Given the description of an element on the screen output the (x, y) to click on. 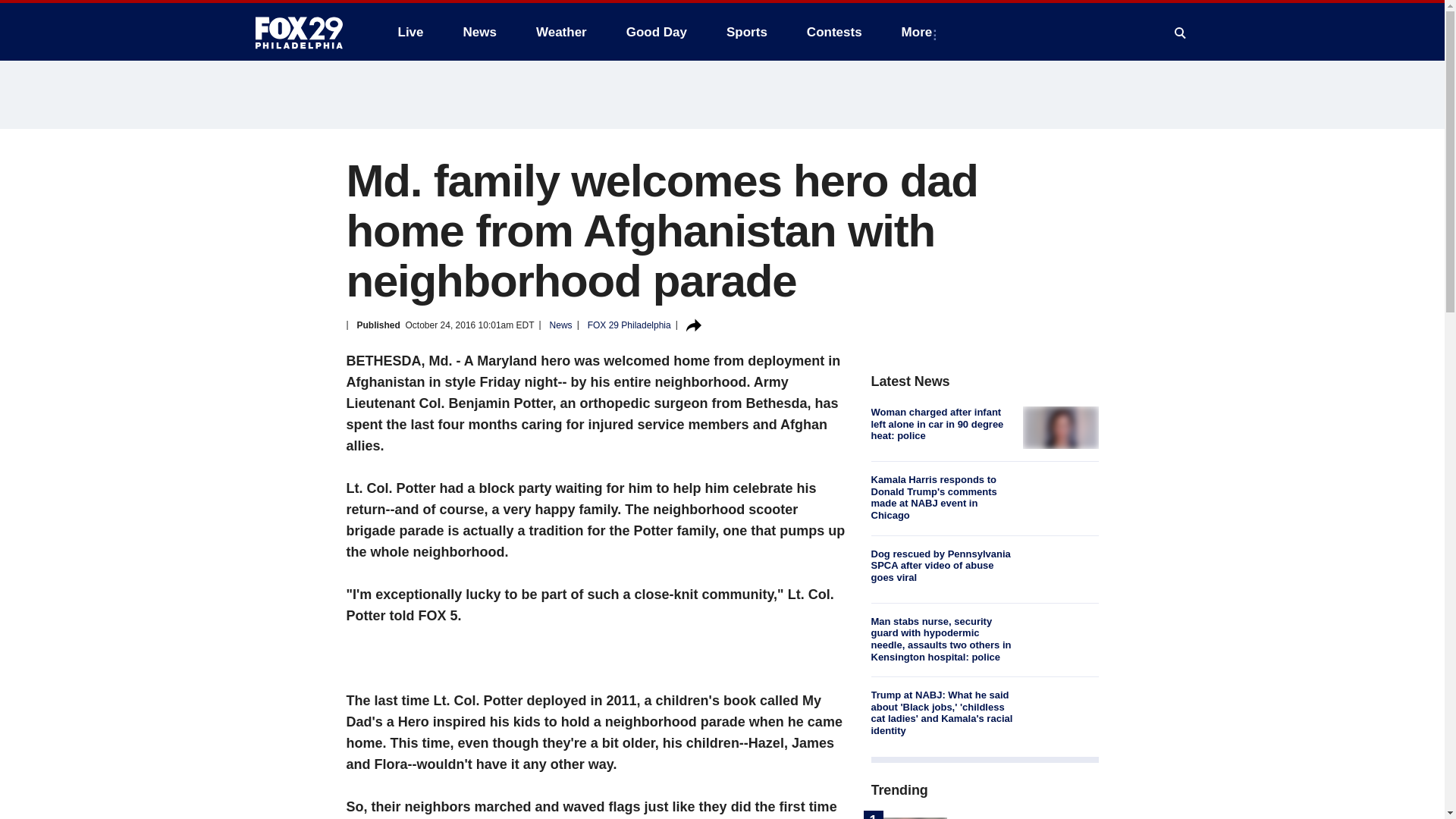
Good Day (656, 32)
News (479, 32)
More (919, 32)
Weather (561, 32)
Contests (834, 32)
Live (410, 32)
Sports (746, 32)
